Given the description of an element on the screen output the (x, y) to click on. 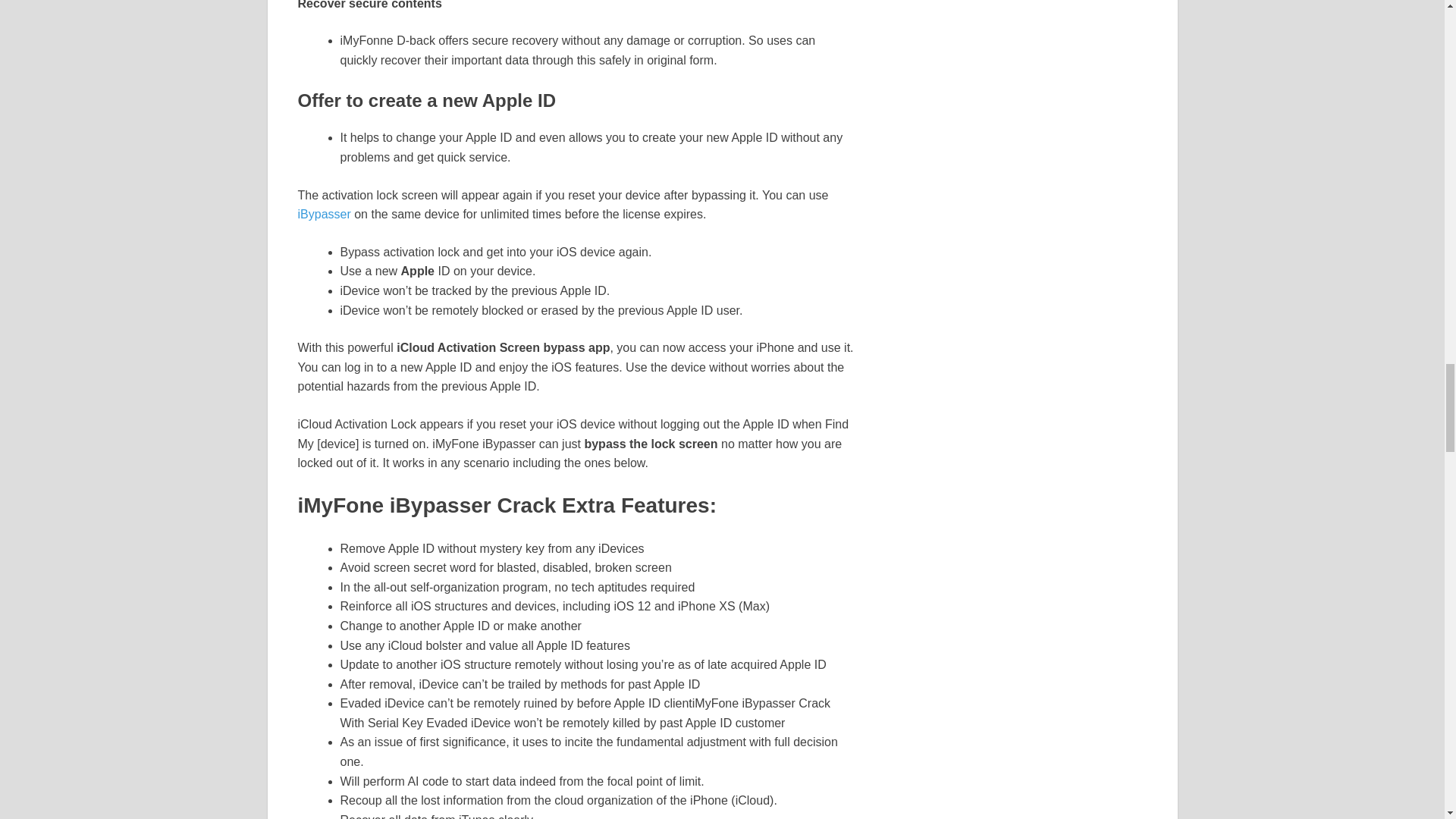
iBypasser (323, 214)
